Given the description of an element on the screen output the (x, y) to click on. 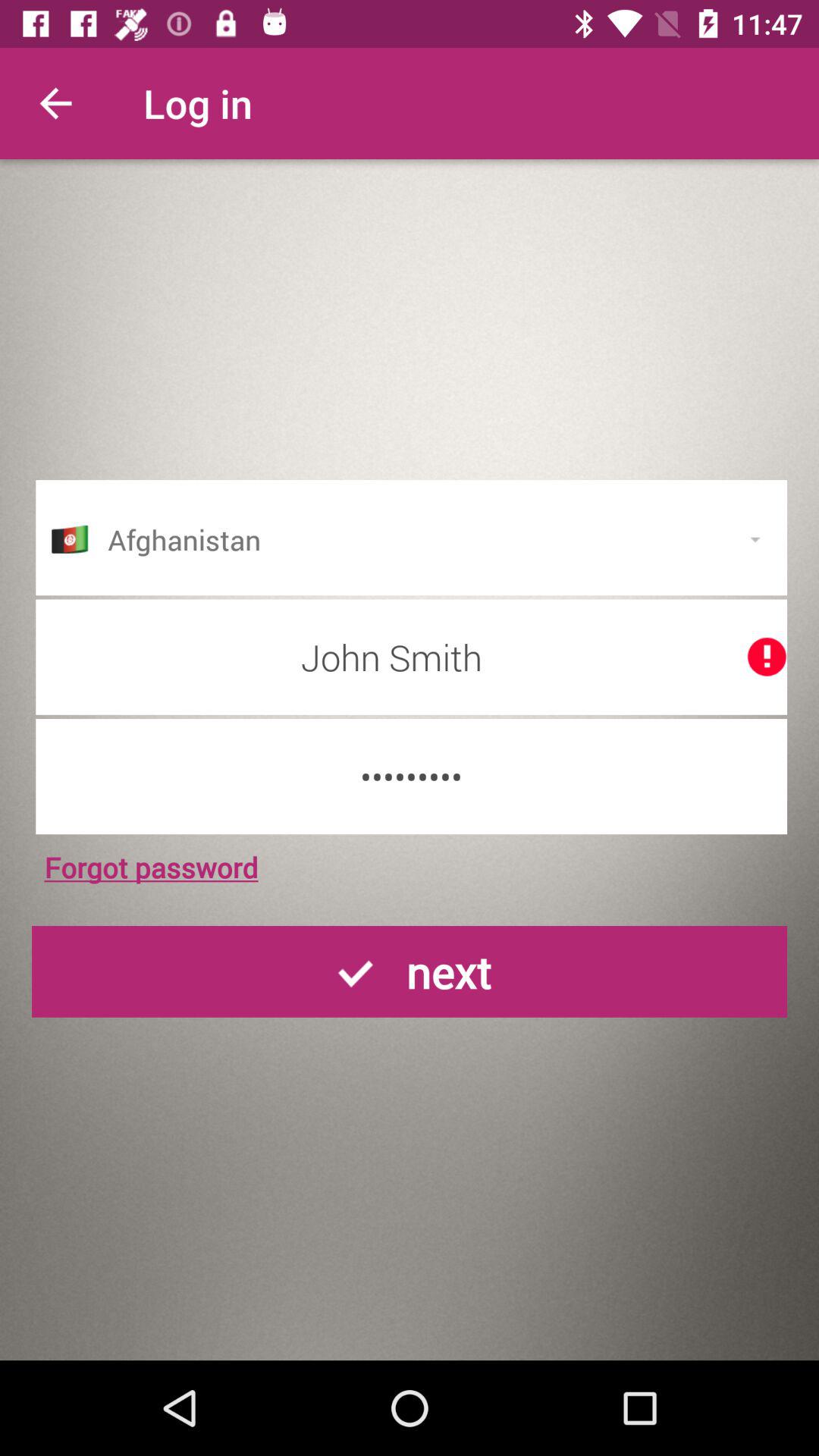
click the item to the left of log in item (55, 103)
